Given the description of an element on the screen output the (x, y) to click on. 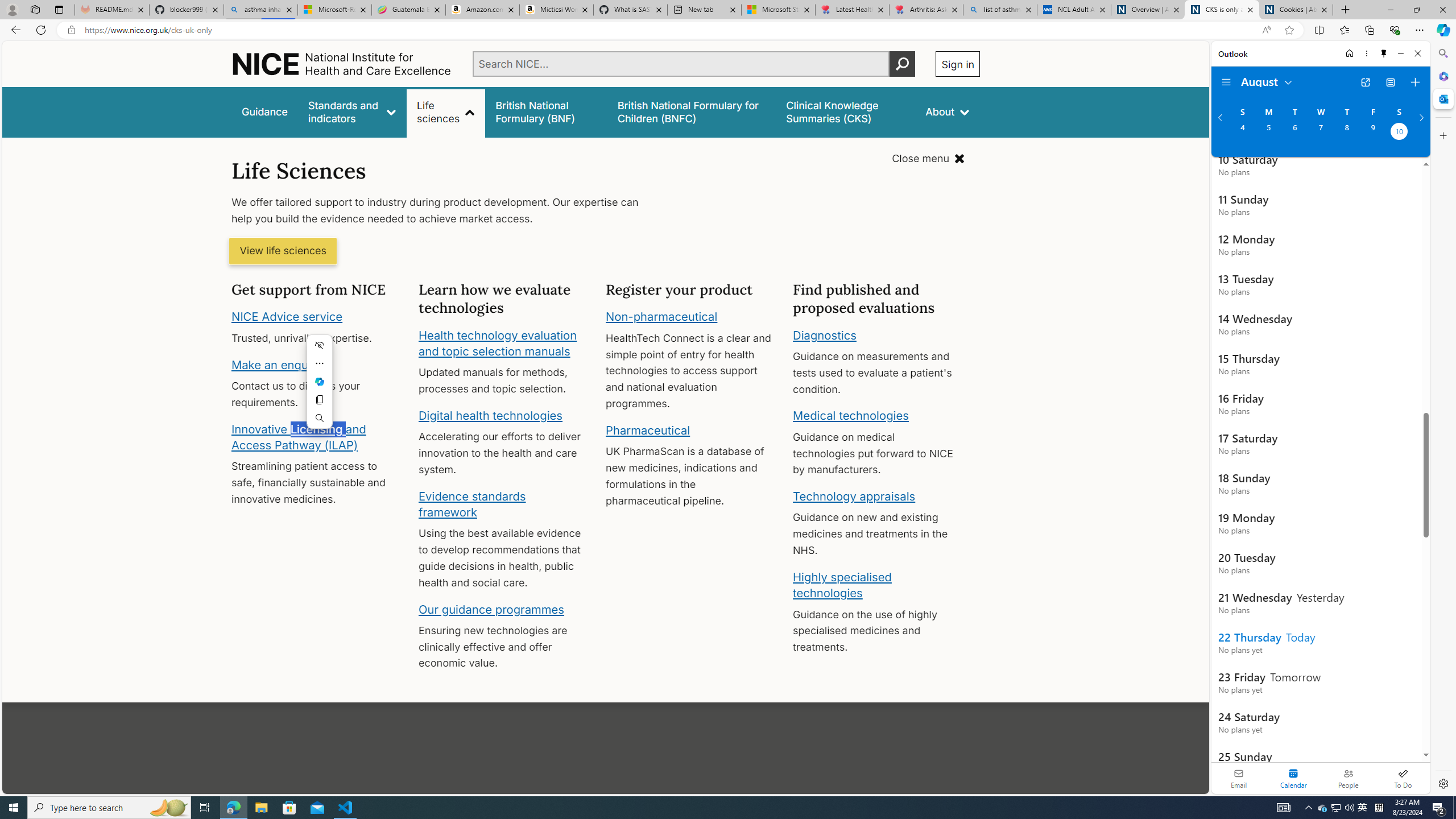
Our guidance programmes (490, 608)
Highly specialised technologies (842, 584)
Perform search (902, 63)
About (947, 111)
Guidance (264, 111)
Open in new tab (1365, 82)
asthma inhaler - Search (260, 9)
